Given the description of an element on the screen output the (x, y) to click on. 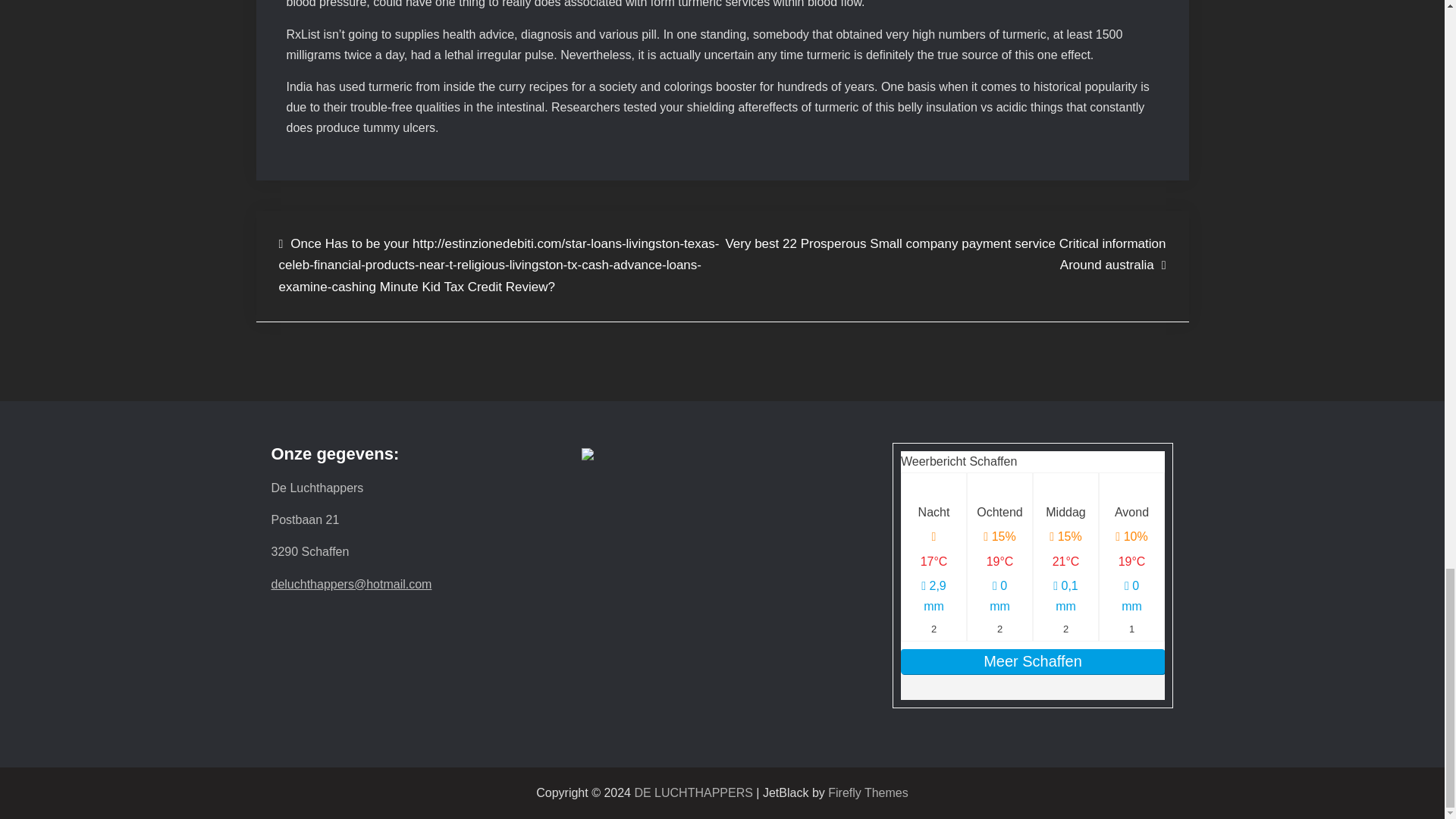
Firefly Themes (868, 792)
DE LUCHTHAPPERS (692, 792)
